Given the description of an element on the screen output the (x, y) to click on. 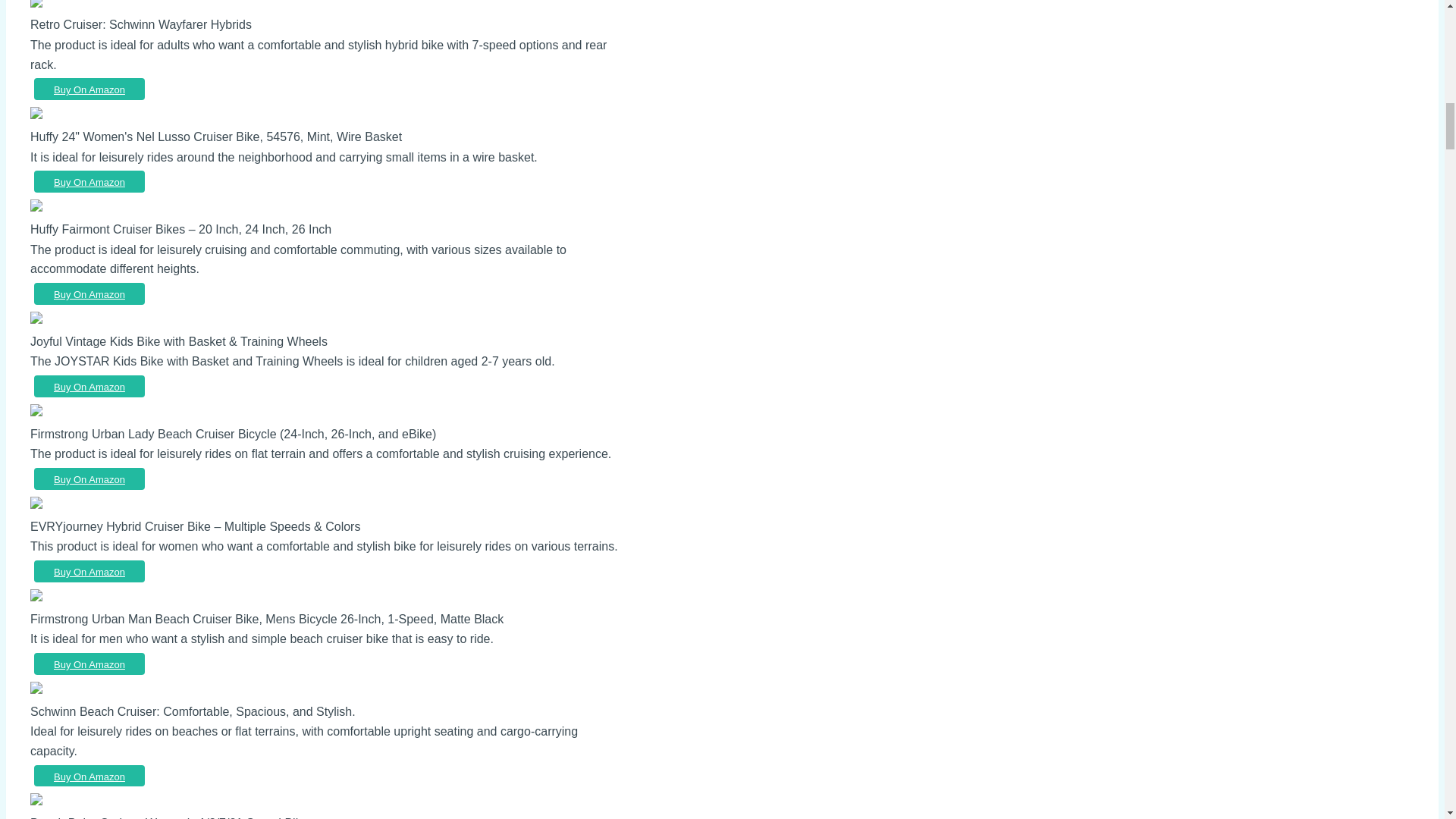
Check details from Amazon (88, 181)
Check details from Amazon (88, 88)
Check details from Amazon (88, 293)
